Given the description of an element on the screen output the (x, y) to click on. 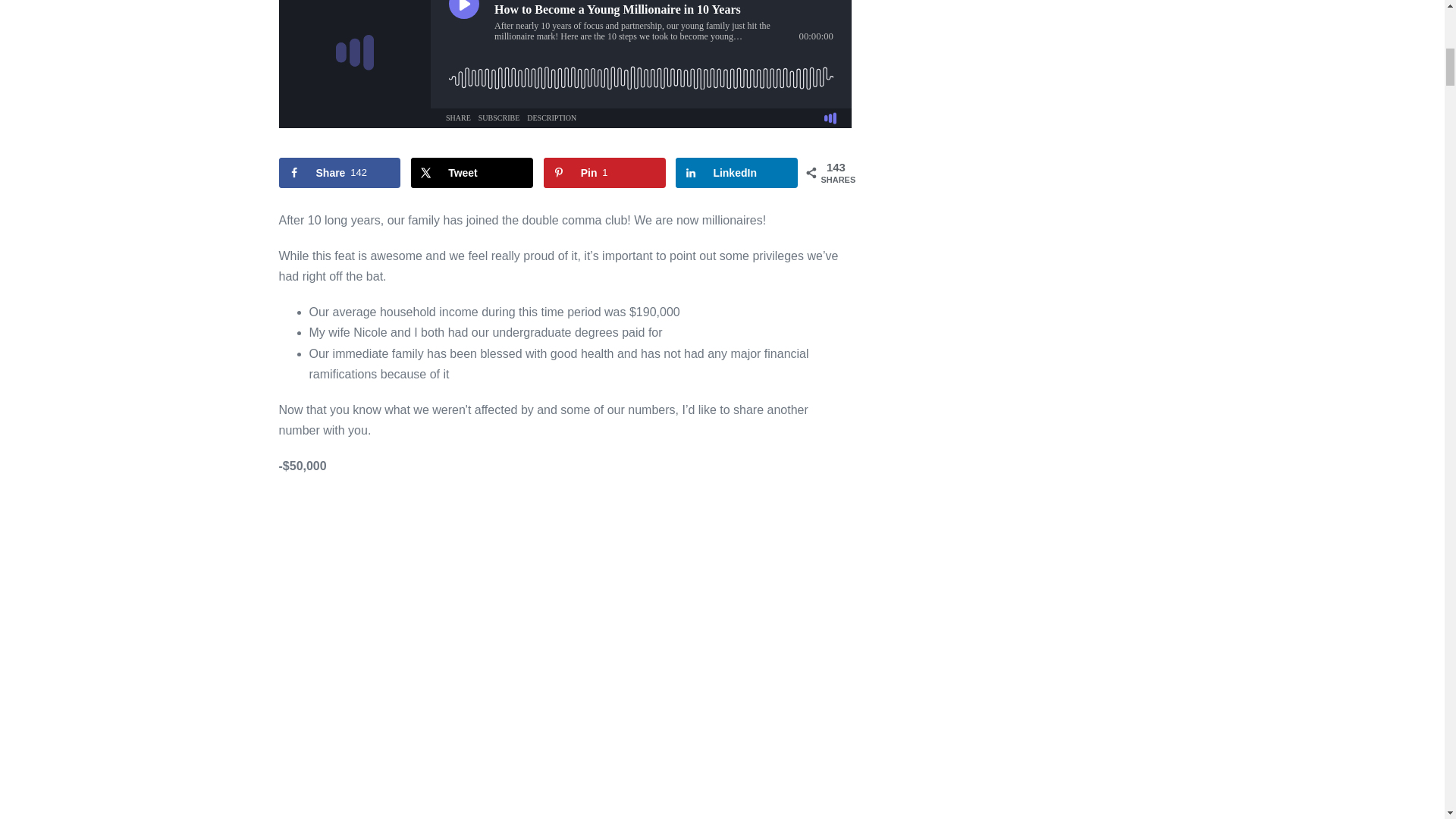
Save to Pinterest (604, 173)
Share on X (471, 173)
Share on Facebook (340, 173)
Share on LinkedIn (736, 173)
